Given the description of an element on the screen output the (x, y) to click on. 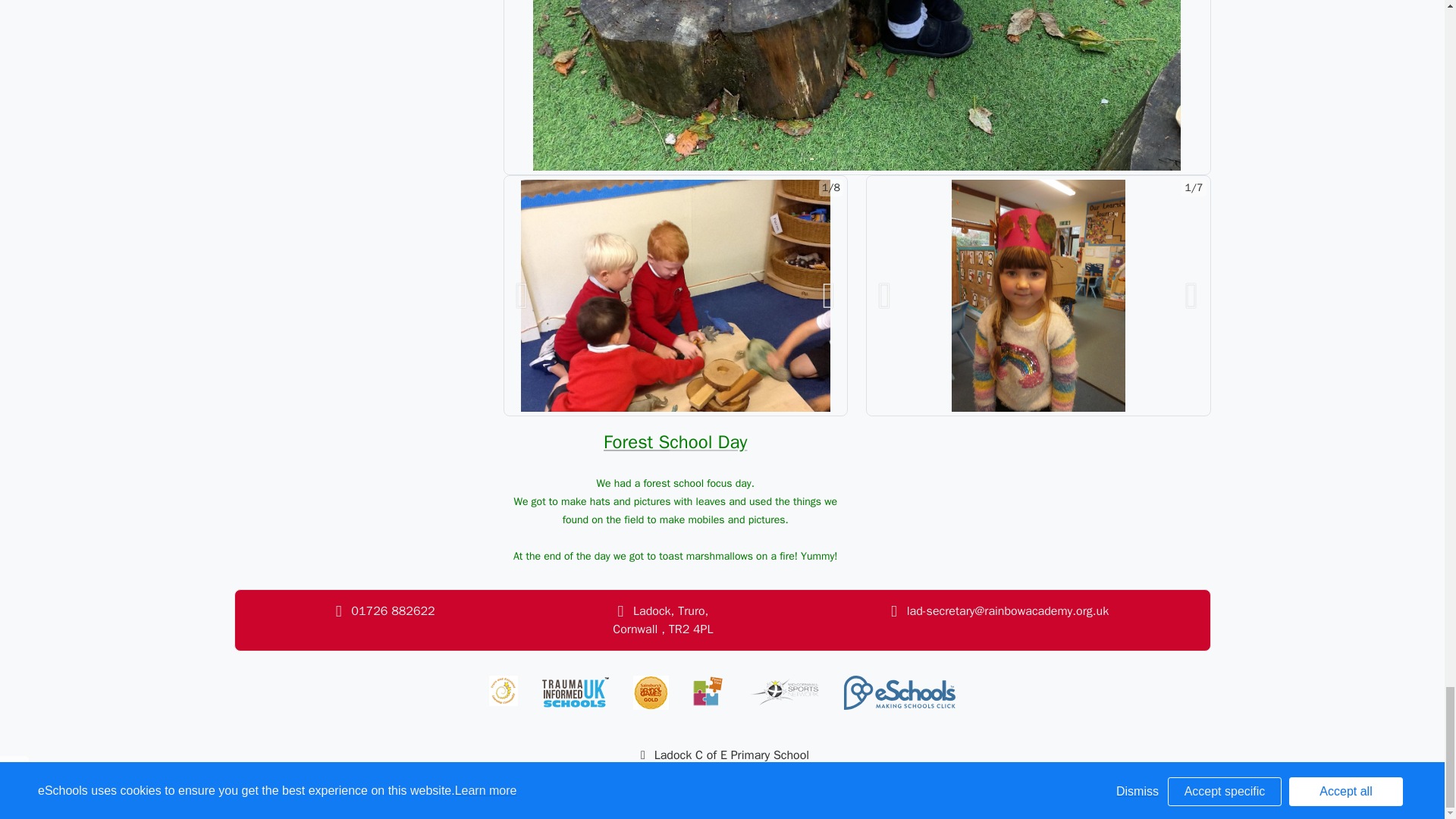
Truro and Roseland Learning Community (503, 690)
Parent View (708, 690)
School Games Gold (650, 692)
Mid-Cornwall Sports Network (783, 690)
Trauma Informed (574, 692)
